Given the description of an element on the screen output the (x, y) to click on. 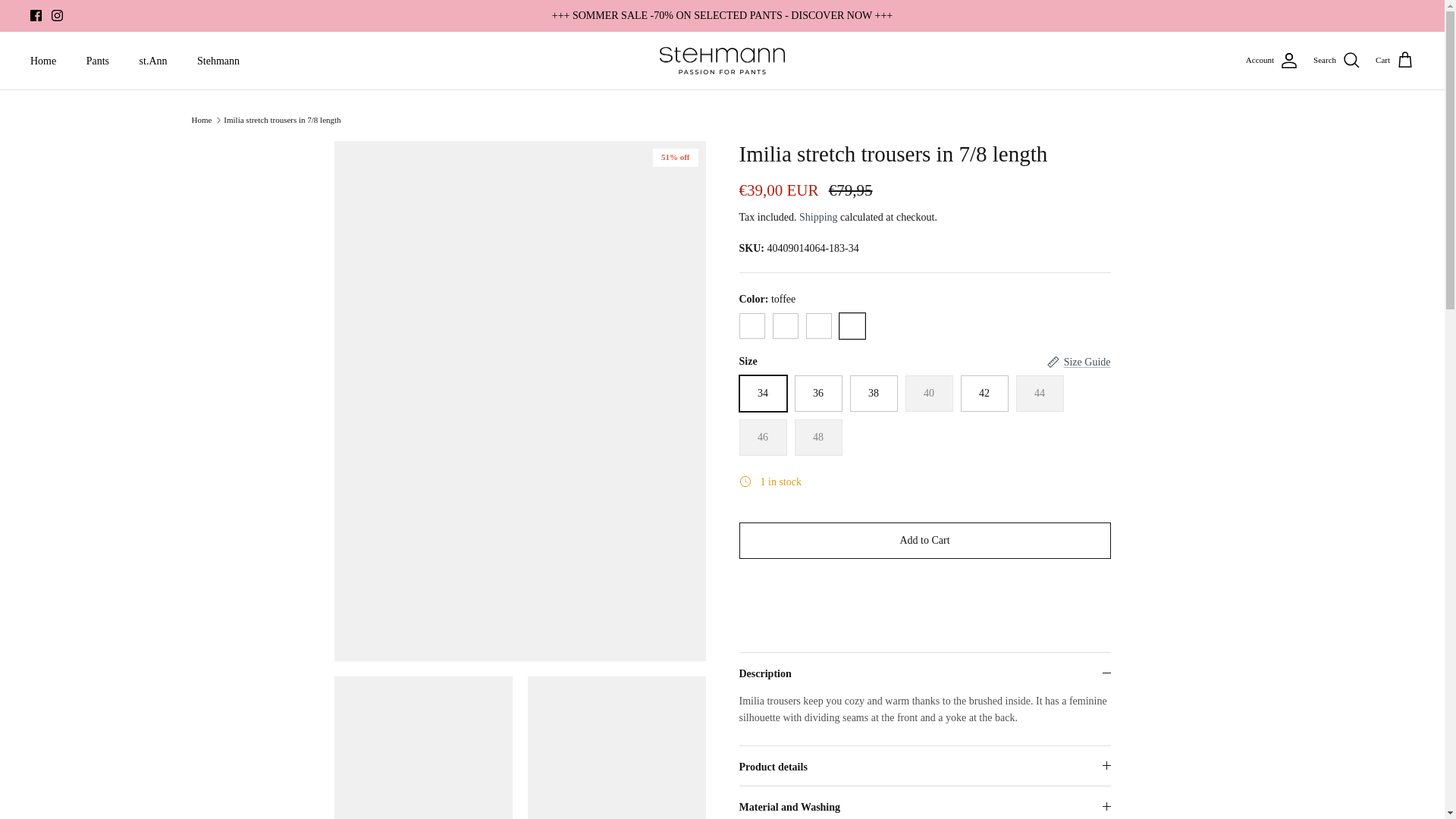
Facebook (36, 15)
Facebook (36, 15)
Account (1272, 60)
Home (42, 60)
Pants (97, 60)
st.Ann (152, 60)
Instagram (56, 15)
Cart (1394, 60)
Stehmann (218, 60)
Search (1336, 60)
